Given the description of an element on the screen output the (x, y) to click on. 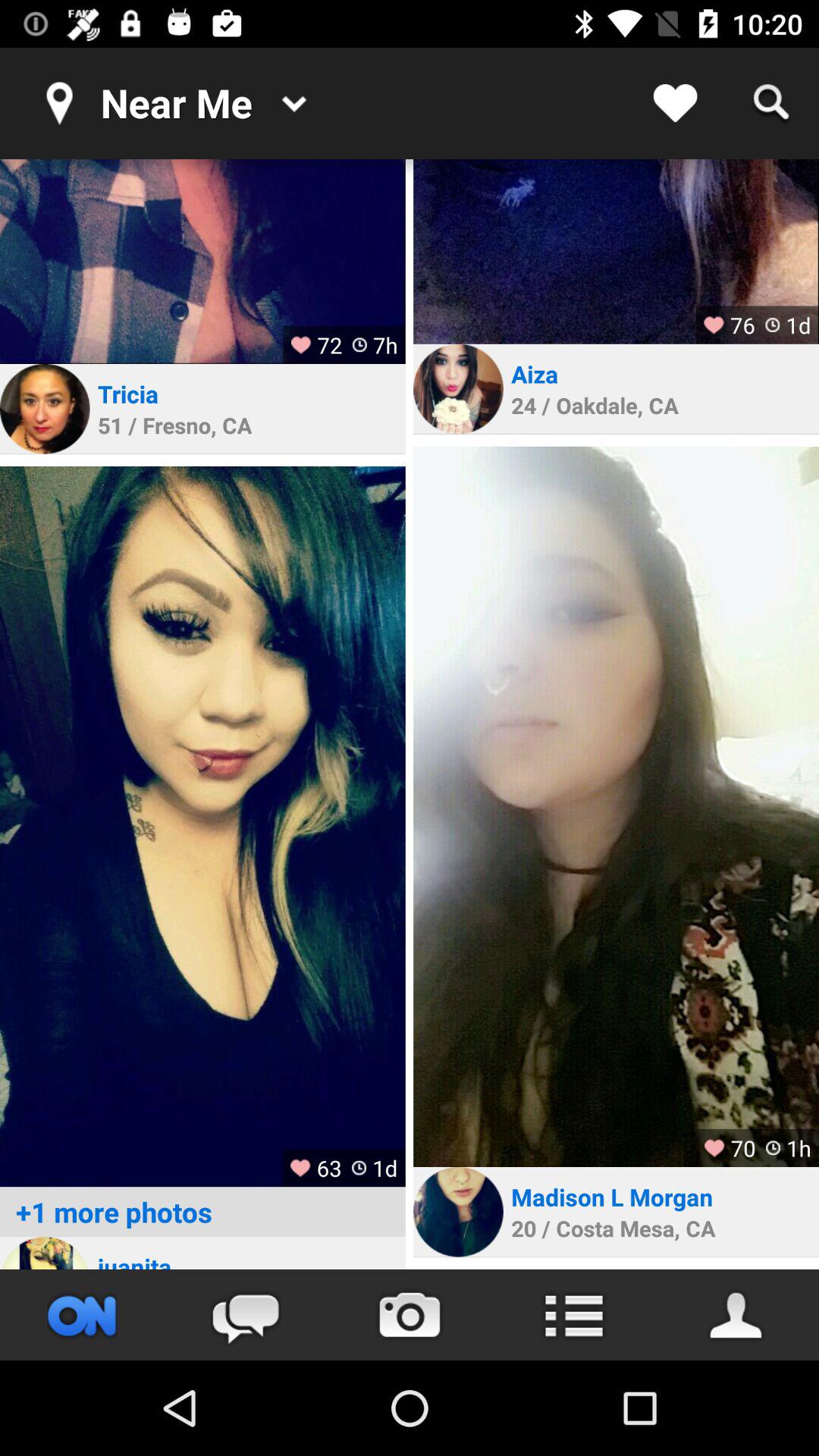
picture option (409, 1315)
